Given the description of an element on the screen output the (x, y) to click on. 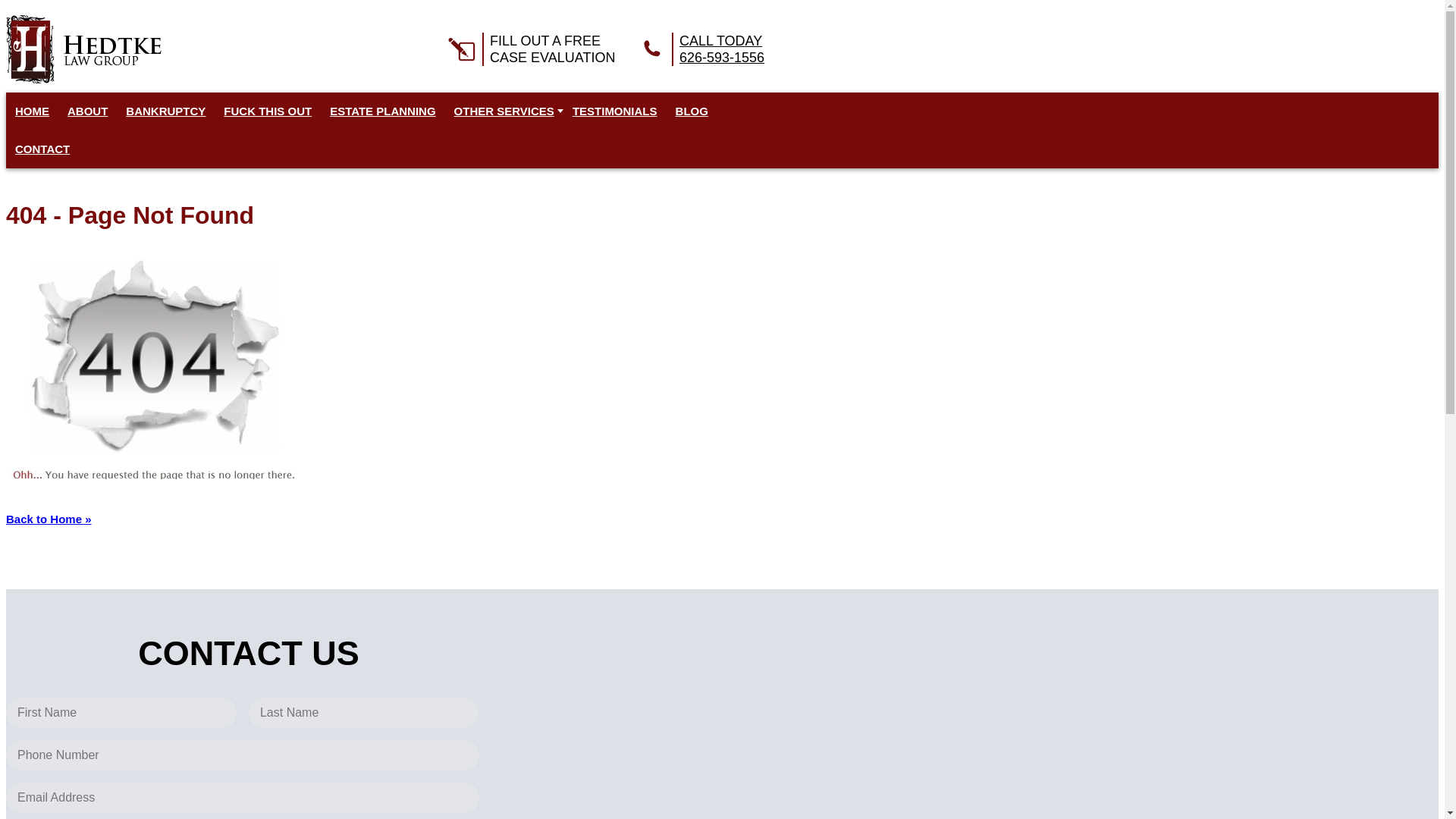
TESTIMONIALS (615, 111)
ABOUT (86, 111)
FUCK THIS OUT (529, 49)
TOPIAX (698, 49)
HOME (267, 111)
BANKRUPTCY (83, 49)
OTHER SERVICES (31, 111)
CONTACT (165, 111)
ESTATE PLANNING (504, 111)
BLOG (41, 149)
